Given the description of an element on the screen output the (x, y) to click on. 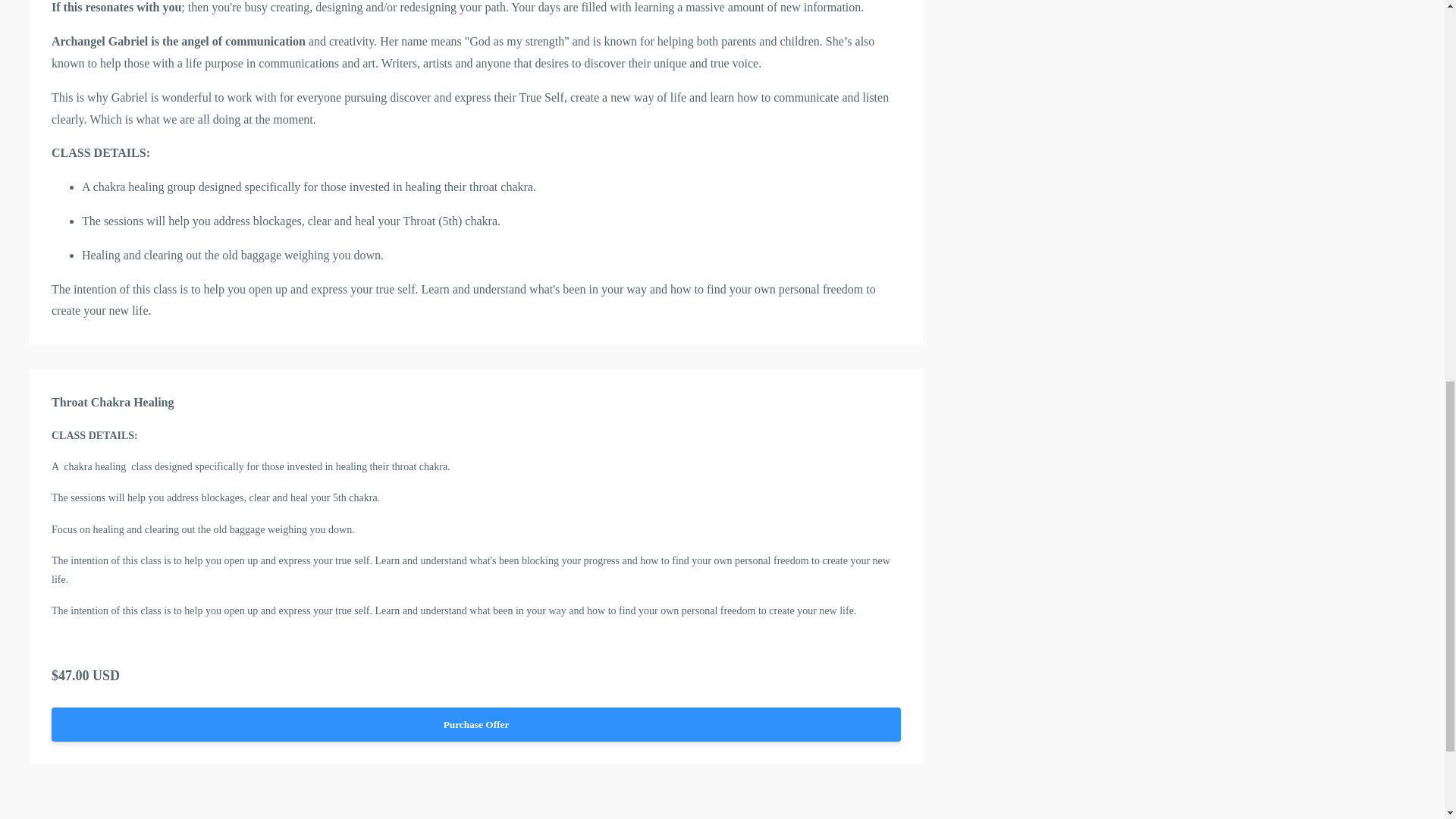
Purchase Offer (475, 724)
